Given the description of an element on the screen output the (x, y) to click on. 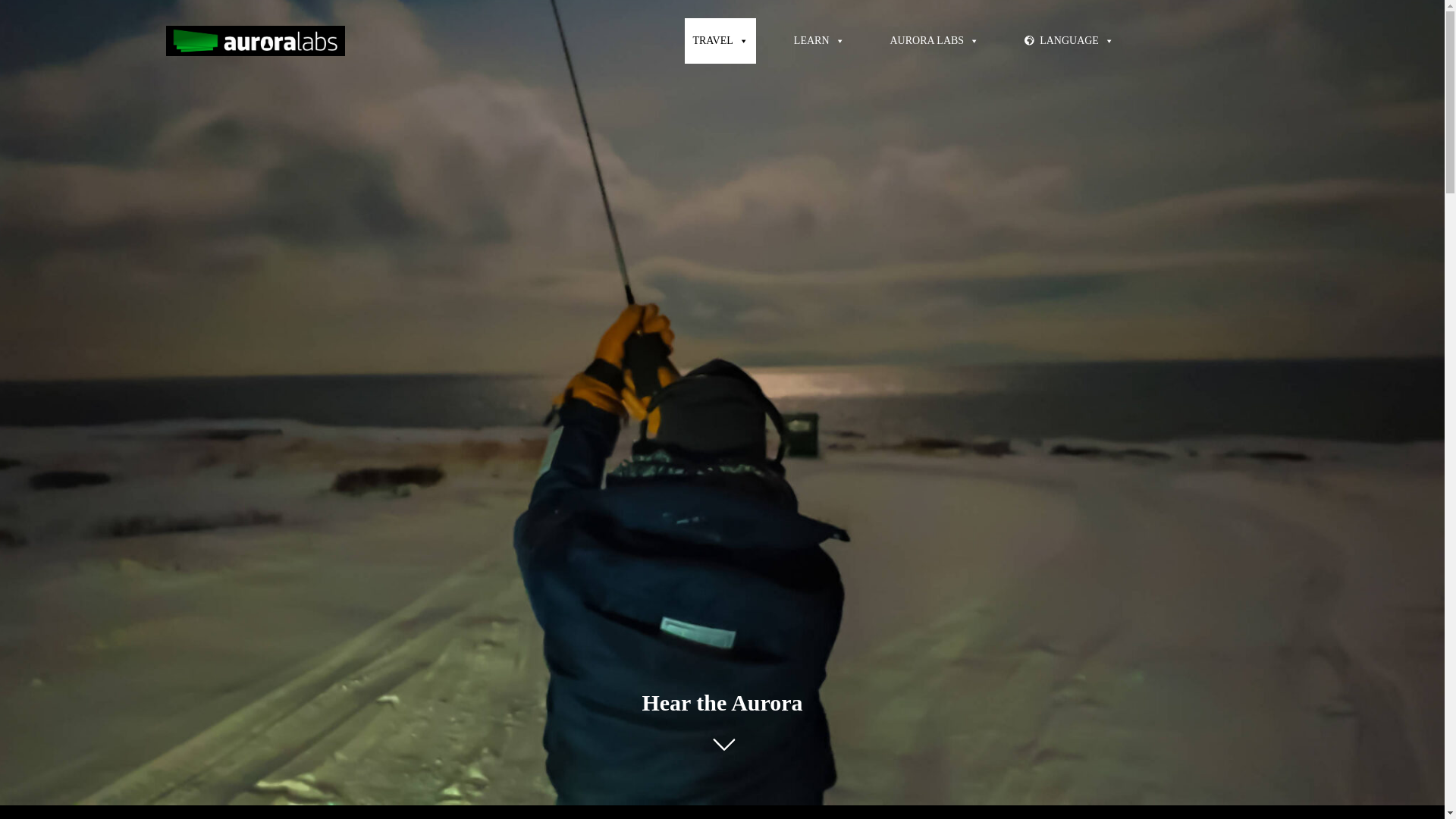
TRAVEL (719, 40)
AURORA LABS (934, 40)
LEARN (818, 40)
